Given the description of an element on the screen output the (x, y) to click on. 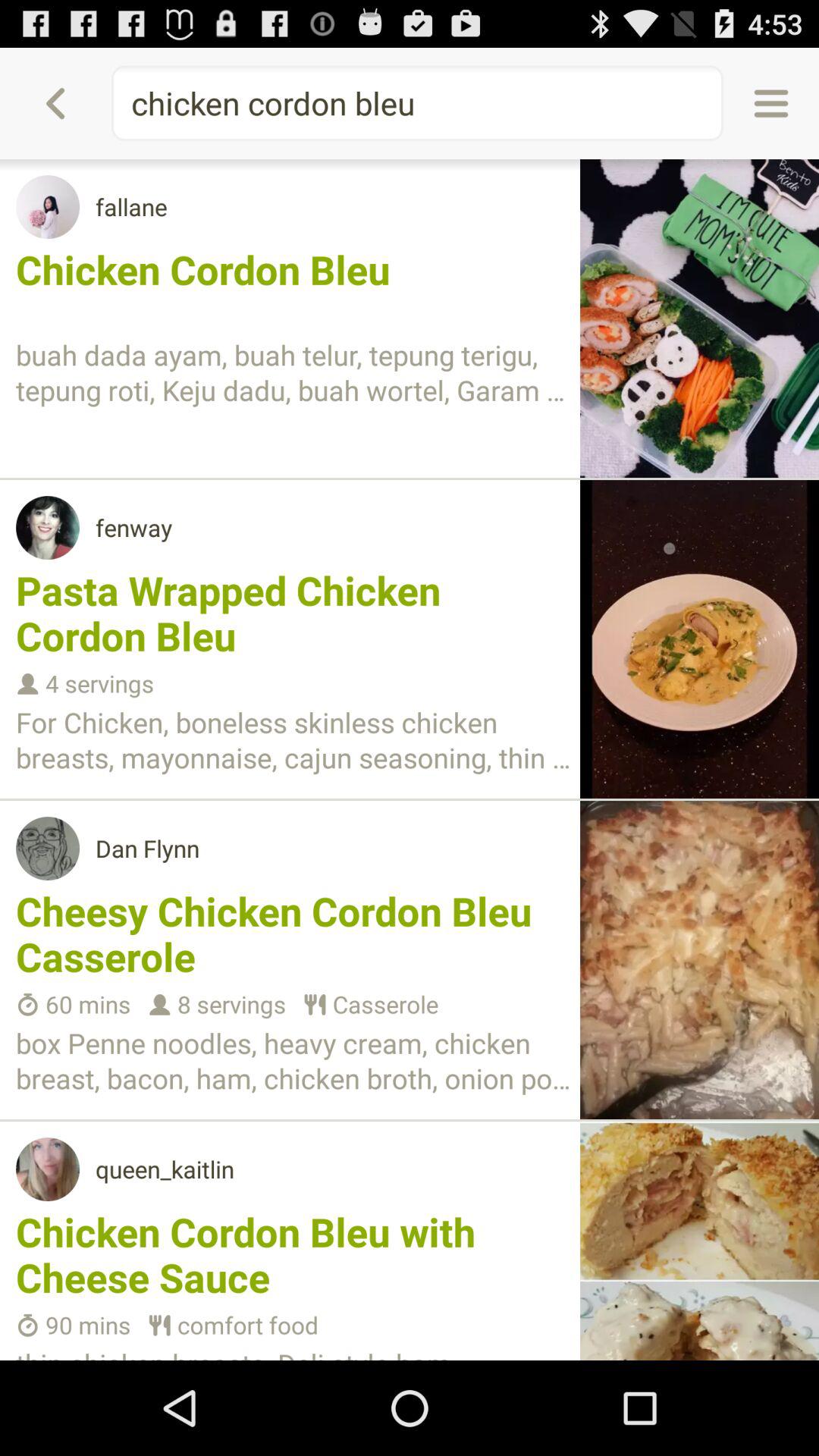
turn off item next to chicken cordon bleu (771, 103)
